Given the description of an element on the screen output the (x, y) to click on. 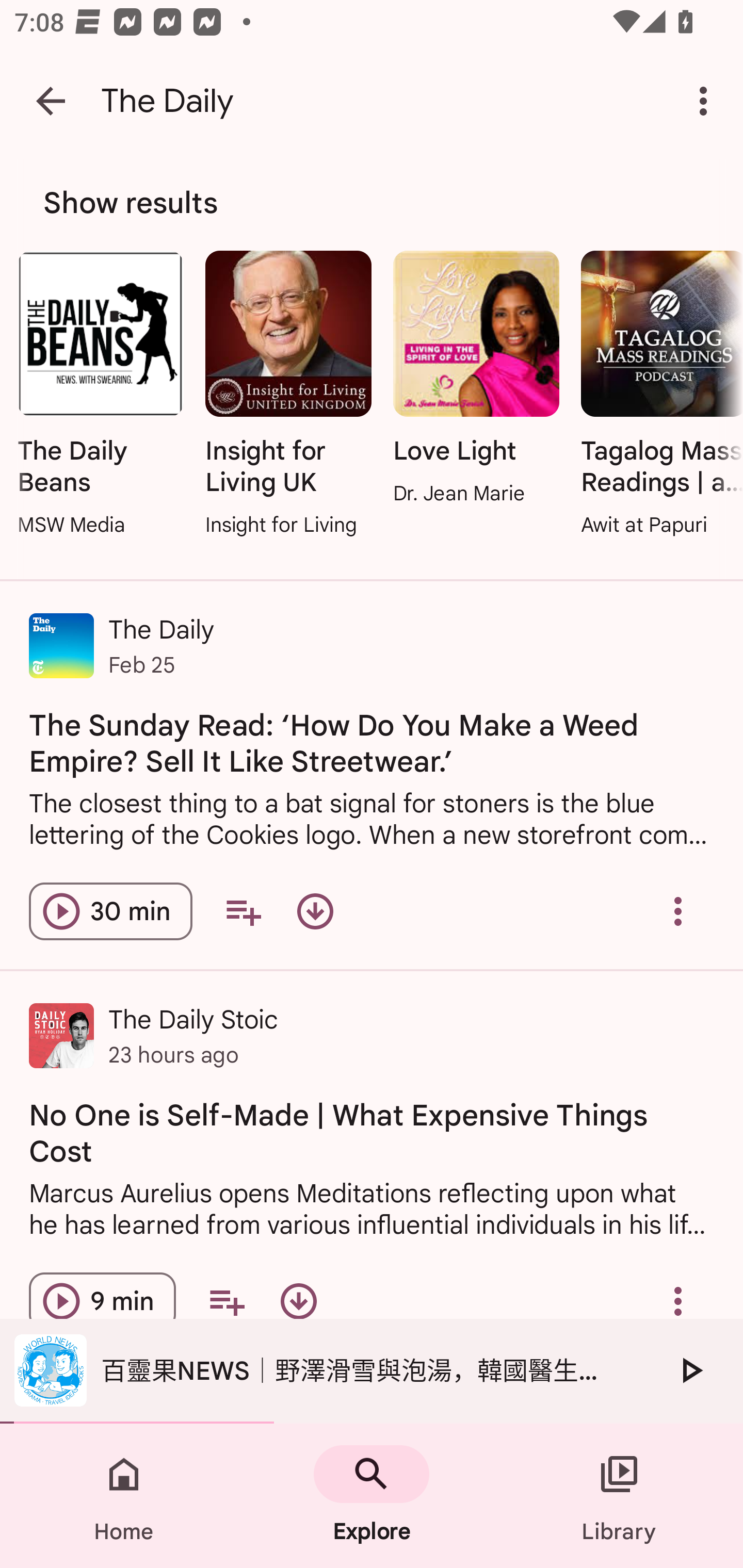
Navigate up The Daily More options (371, 100)
Navigate up (50, 101)
More options (706, 101)
The Daily Beans The Daily Beans MSW Media (100, 394)
Love Light Love Light Dr. Jean Marie Farish (475, 379)
Add to your queue (242, 911)
Download episode (315, 911)
Overflow menu (677, 911)
Add to your queue (226, 1301)
Download episode (298, 1301)
Overflow menu (677, 1301)
Play (690, 1370)
Home (123, 1495)
Library (619, 1495)
